Given the description of an element on the screen output the (x, y) to click on. 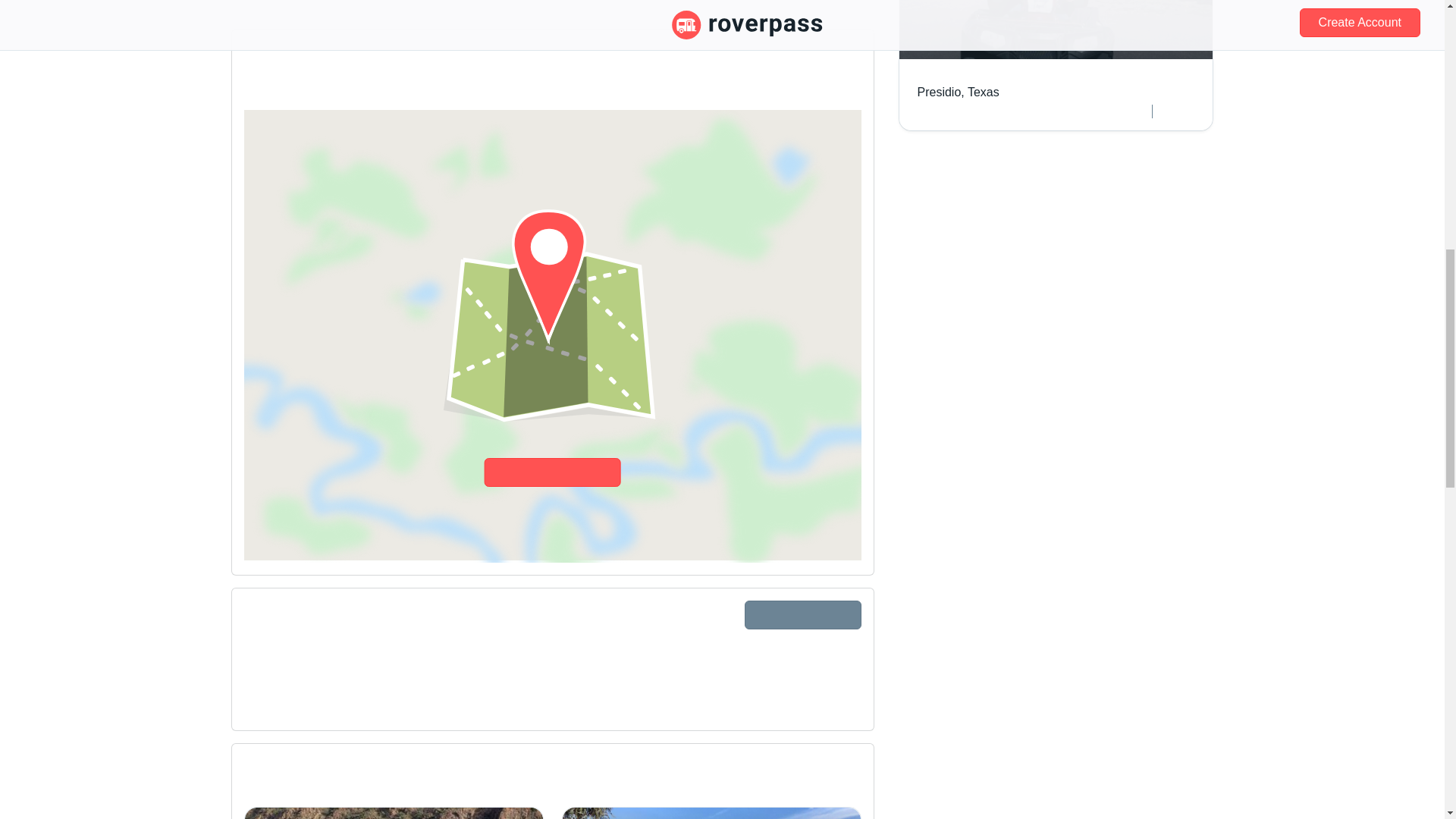
Leave a Review (802, 614)
Report an issue (393, 812)
